Given the description of an element on the screen output the (x, y) to click on. 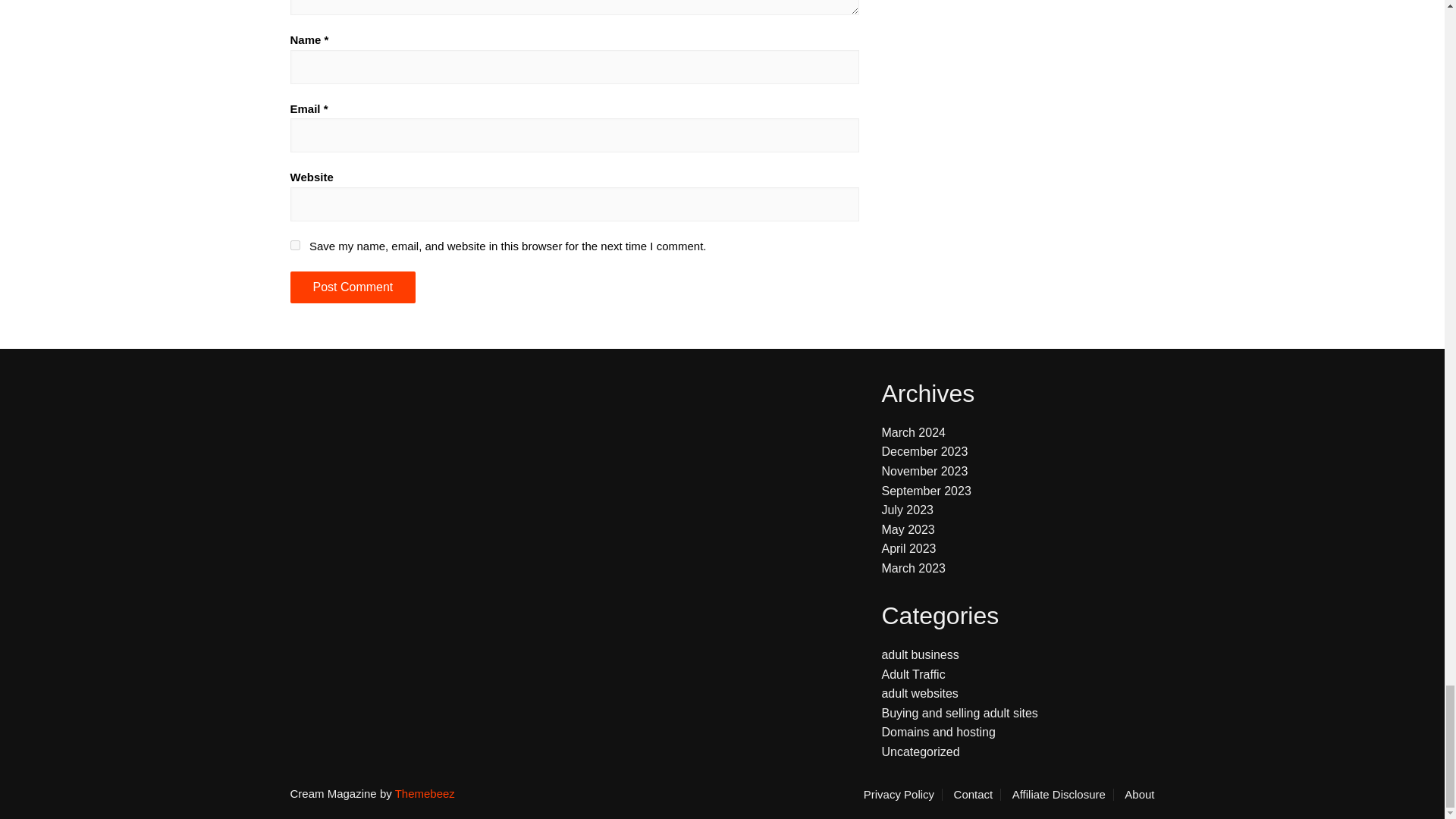
Post Comment (351, 286)
yes (294, 245)
